Given the description of an element on the screen output the (x, y) to click on. 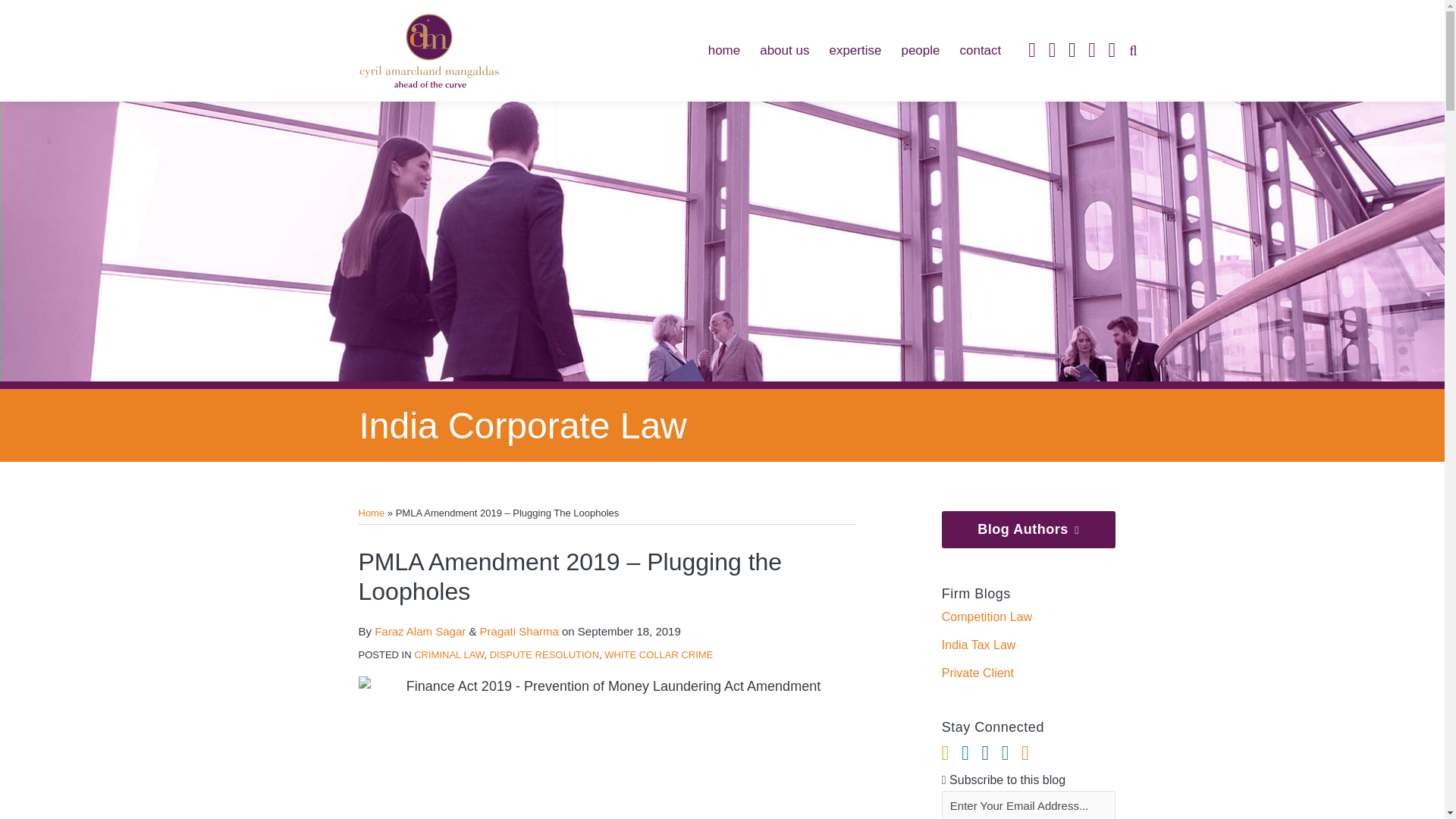
RSS (1031, 50)
expertise (854, 50)
Facebook (1071, 50)
LinkedIn (1052, 50)
Instagram (1091, 50)
about us (784, 50)
home (724, 50)
Faraz Alam Sagar (419, 631)
India Corporate Law (523, 425)
Home (371, 512)
WHITE COLLAR CRIME (658, 654)
people (920, 50)
contact (980, 50)
DISPUTE RESOLUTION (543, 654)
Pragati Sharma (519, 631)
